Given the description of an element on the screen output the (x, y) to click on. 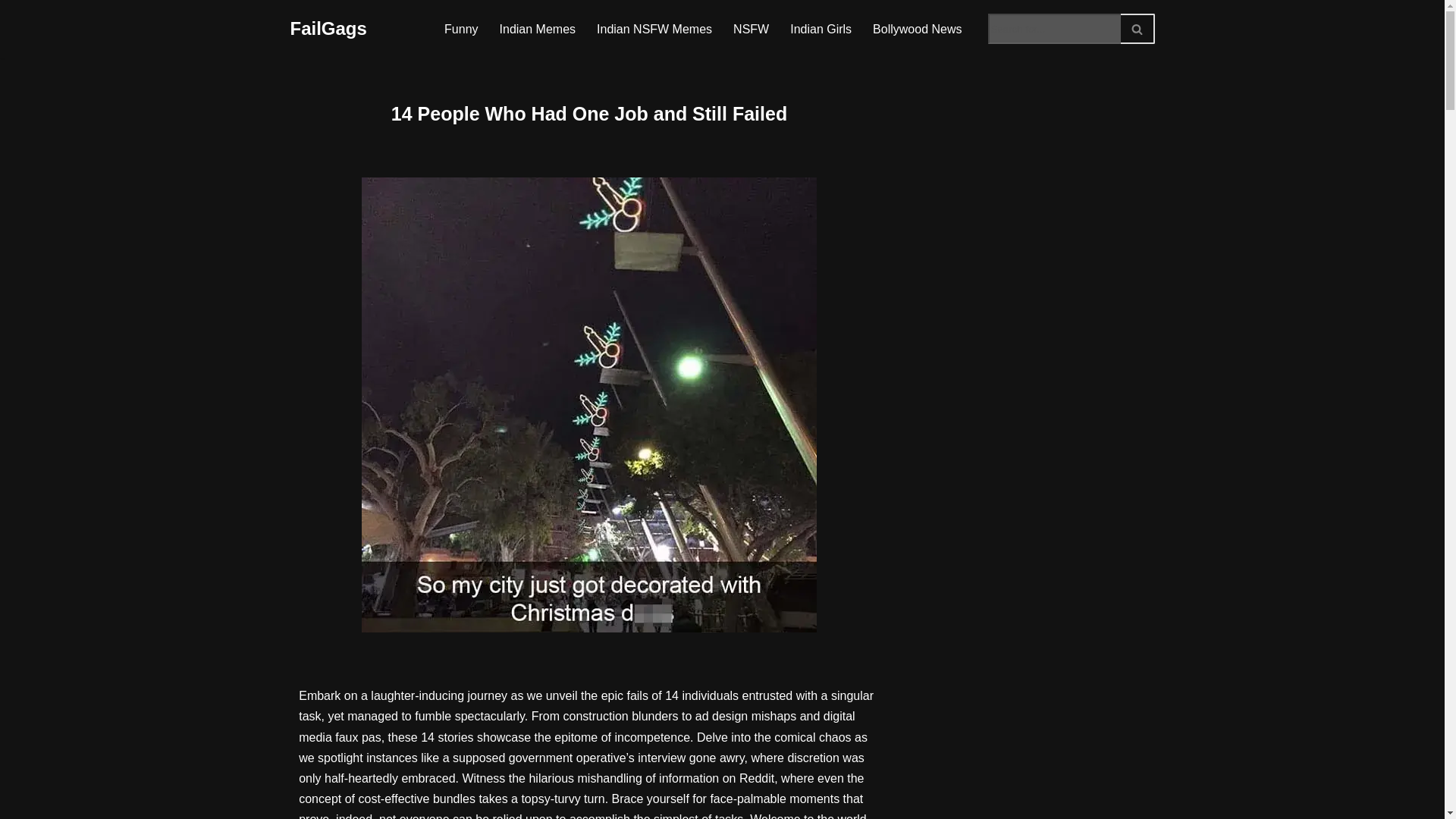
NSFW (750, 28)
Skip to content (11, 31)
Indian NSFW Memes (653, 28)
FailGags (327, 29)
Bollywood News (916, 28)
Indian Memes (537, 28)
Funny (460, 28)
Indian Girls (820, 28)
